Given the description of an element on the screen output the (x, y) to click on. 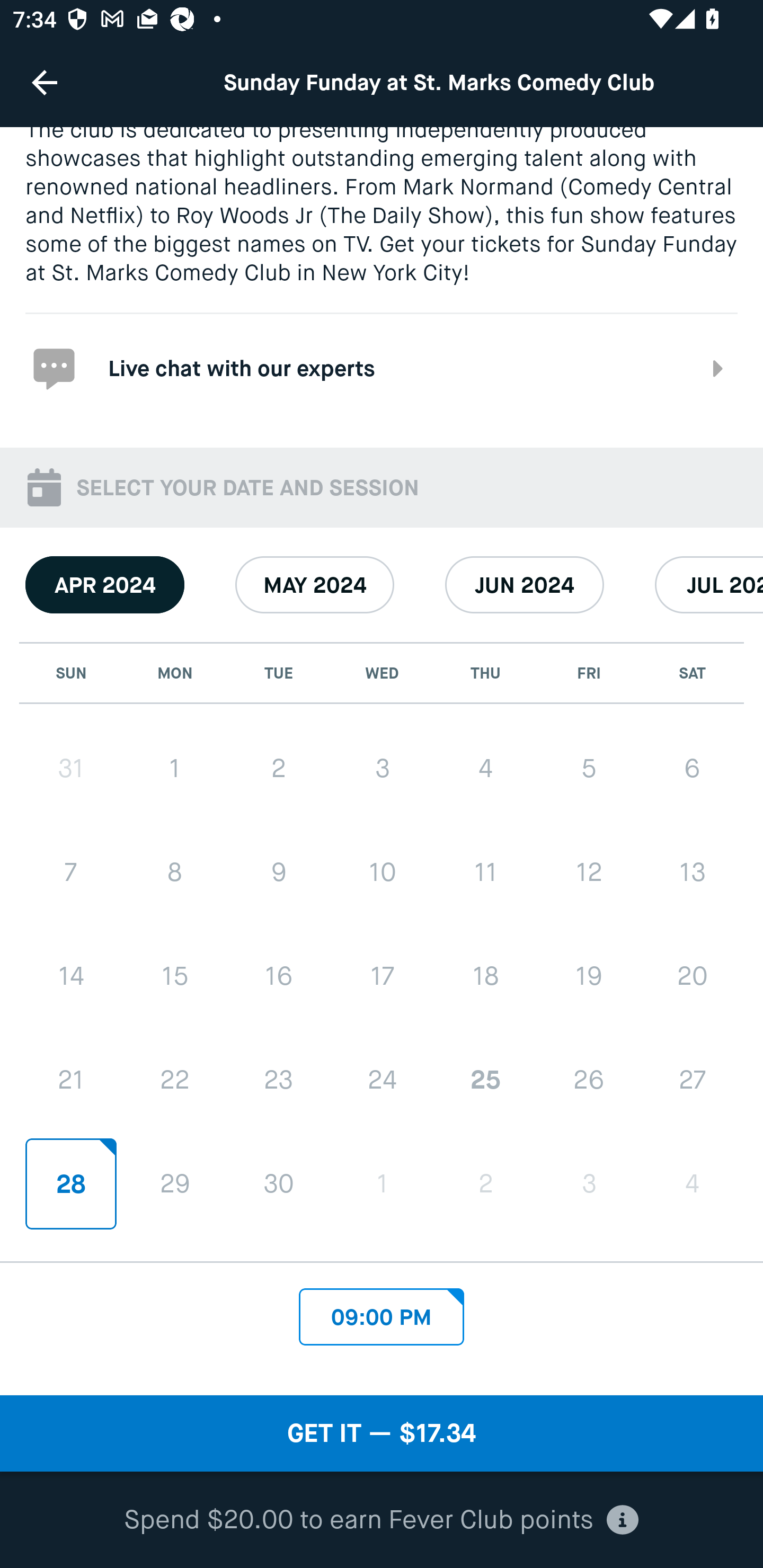
Navigate up (44, 82)
Live chat with our experts (381, 366)
APR 2024 (104, 584)
MAY 2024 (314, 584)
JUN 2024 (524, 584)
JUL 2024 (708, 584)
31 (70, 767)
1 (174, 767)
2 (278, 767)
3 (382, 767)
4 (485, 767)
5 (588, 767)
6 (692, 767)
7 (70, 871)
8 (174, 871)
9 (278, 871)
10 (382, 871)
11 (485, 871)
12 (588, 871)
13 (692, 871)
14 (70, 976)
15 (174, 976)
16 (278, 976)
17 (382, 975)
18 (485, 975)
19 (588, 975)
20 (692, 975)
21 (70, 1079)
22 (174, 1079)
23 (278, 1079)
24 (382, 1079)
25 (485, 1079)
26 (588, 1079)
27 (692, 1079)
28 (70, 1183)
29 (174, 1183)
30 (278, 1183)
1 (382, 1183)
2 (485, 1183)
3 (588, 1183)
4 (692, 1183)
09:00 PM (381, 1312)
GET IT — $17.34 (381, 1433)
Spend $20.00 to earn Fever Club points (381, 1519)
